Given the description of an element on the screen output the (x, y) to click on. 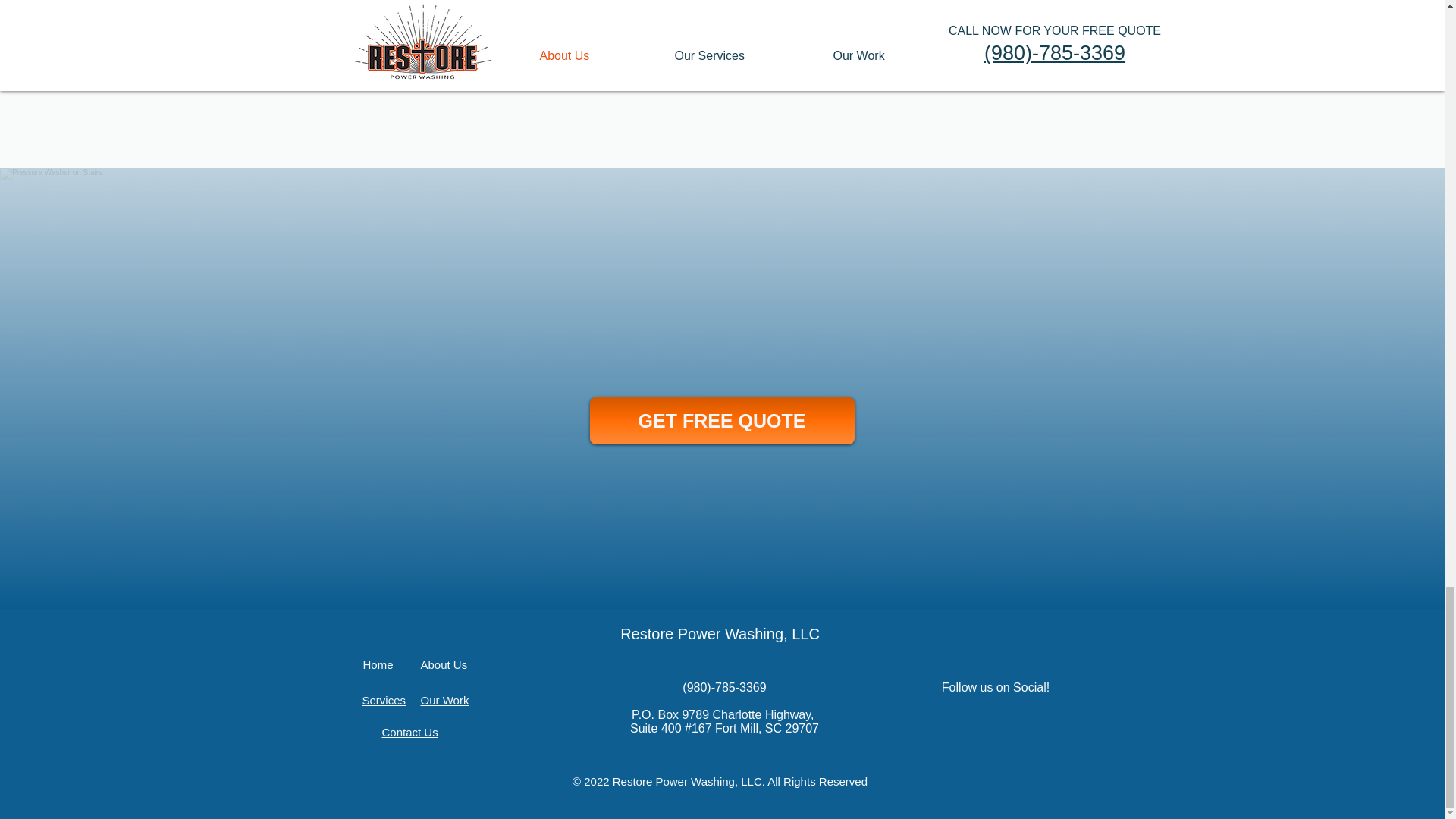
About Us (443, 664)
Contact Us (409, 731)
Home (377, 664)
Services (384, 699)
Our Work (444, 699)
GET FREE QUOTE (721, 420)
